Given the description of an element on the screen output the (x, y) to click on. 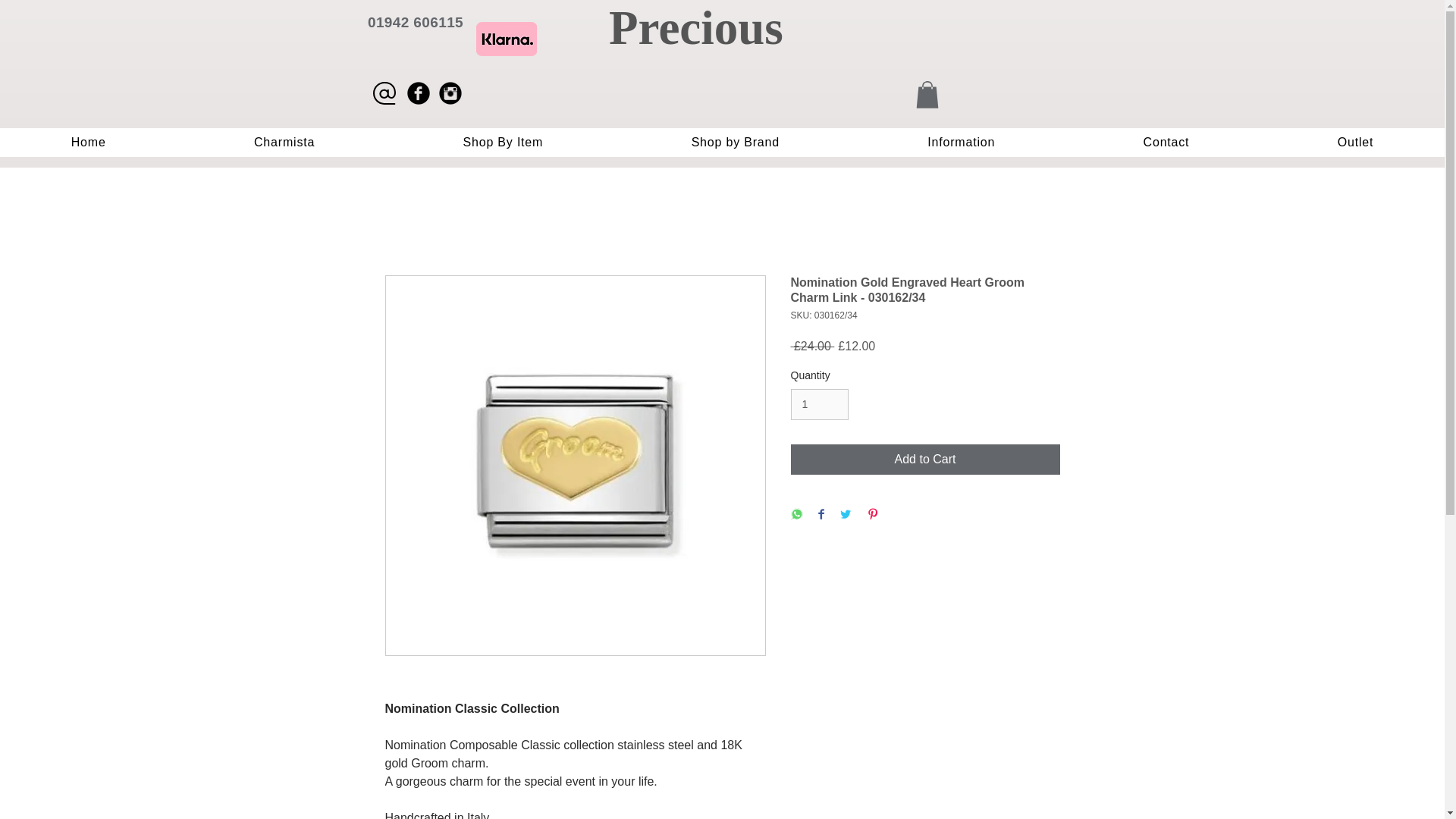
Charmista (284, 142)
Precious (695, 27)
Shop By Item (502, 142)
1 (818, 404)
Home (88, 142)
Shop by Brand (735, 142)
